Given the description of an element on the screen output the (x, y) to click on. 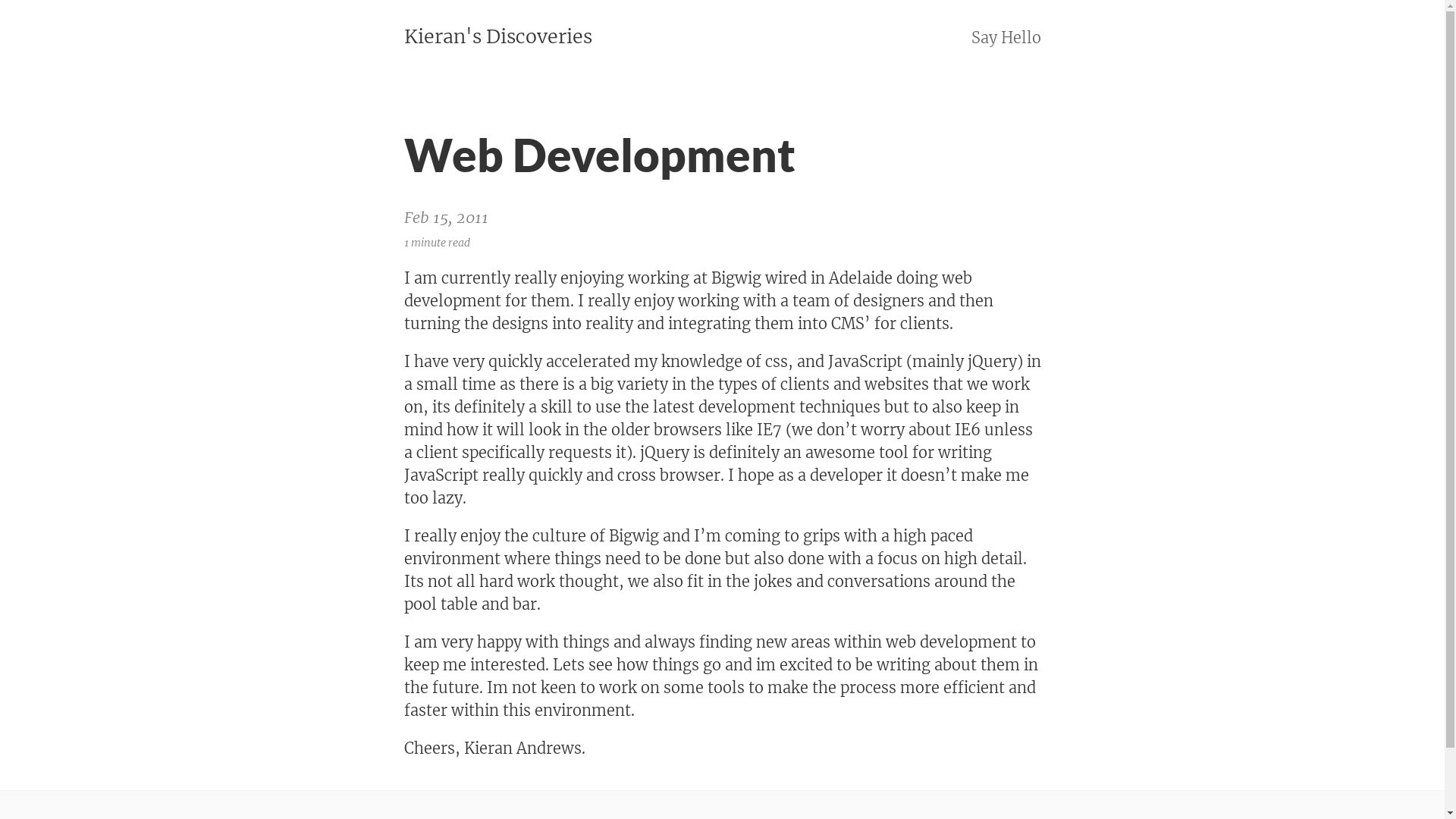
Kieran's Discoveries Element type: text (497, 36)
Say Hello Element type: text (1005, 37)
